Given the description of an element on the screen output the (x, y) to click on. 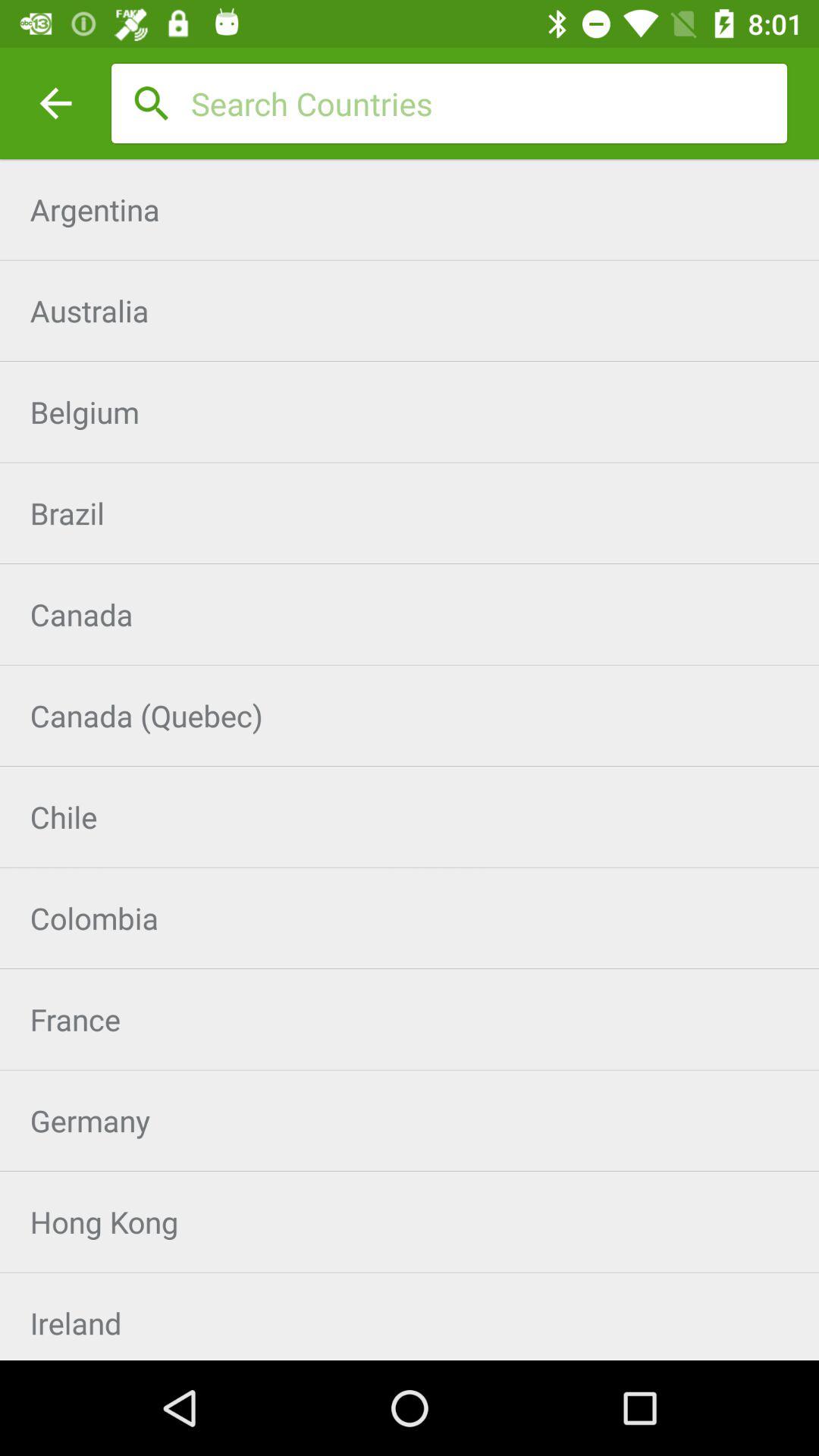
jump until brazil (409, 512)
